Given the description of an element on the screen output the (x, y) to click on. 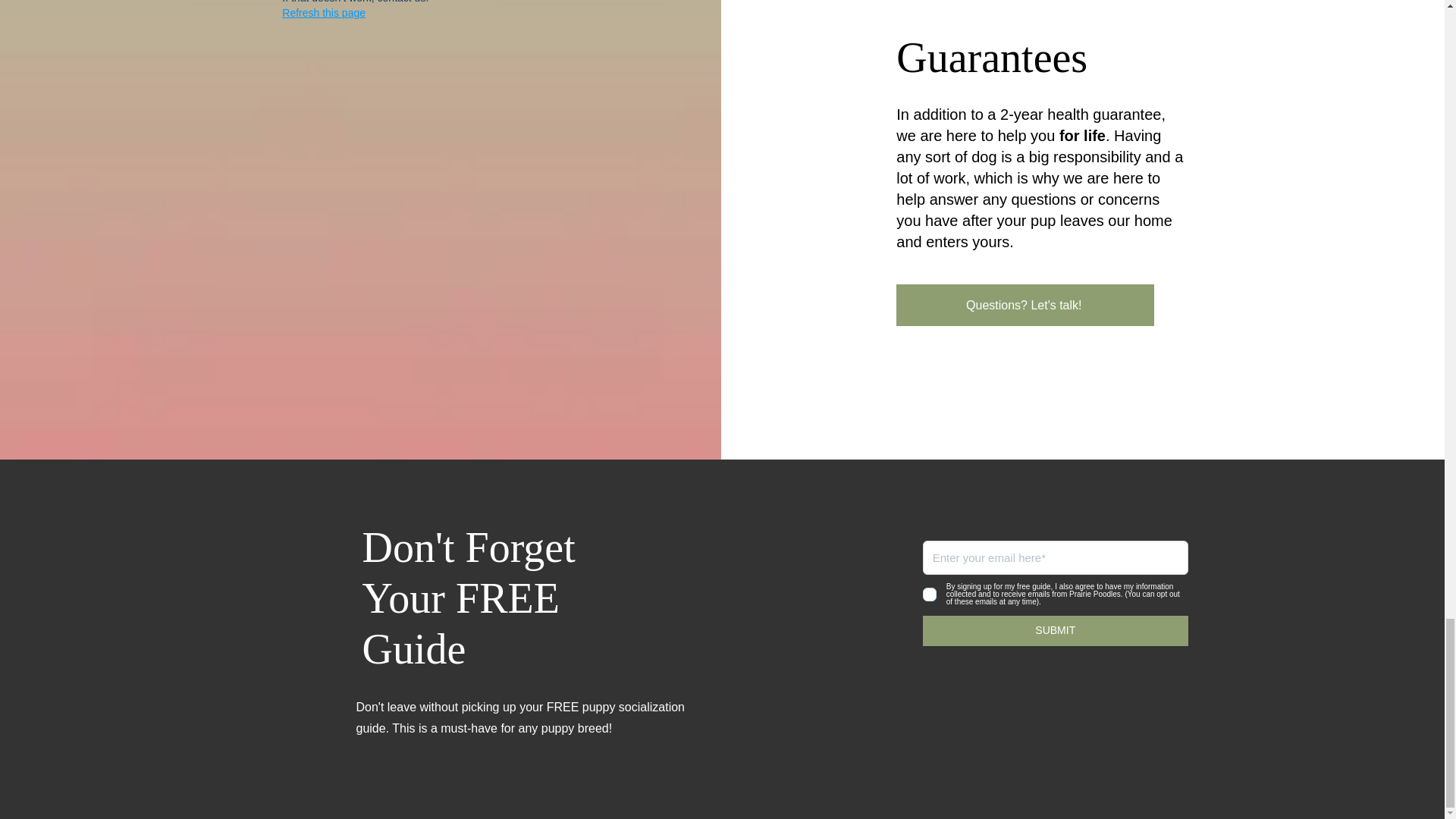
Questions? Let's talk! (1025, 304)
SUBMIT (1055, 630)
Refresh this page (323, 12)
